Given the description of an element on the screen output the (x, y) to click on. 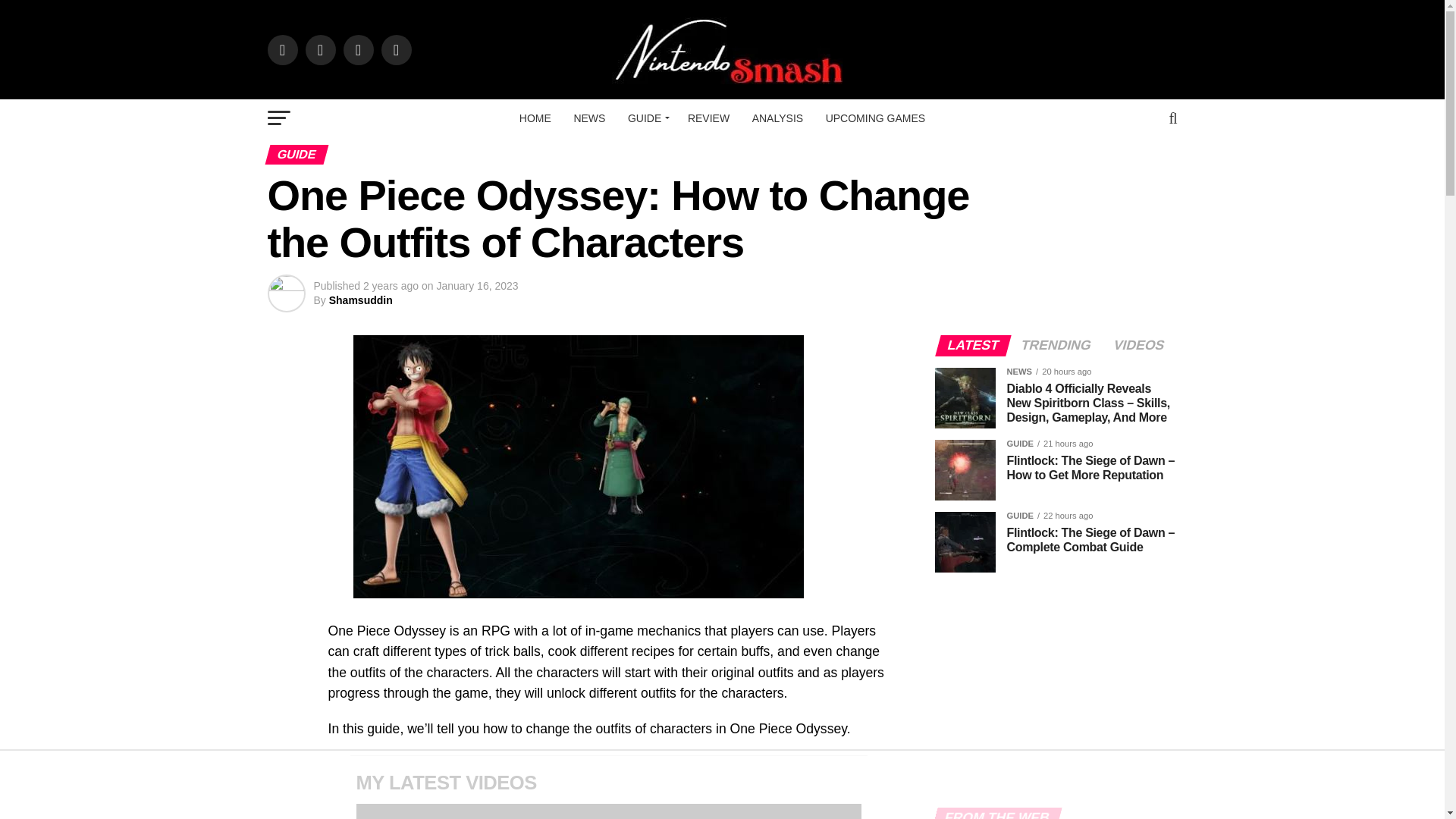
GUIDE (646, 118)
HOME (535, 118)
NEWS (589, 118)
Posts by Shamsuddin (361, 300)
